Given the description of an element on the screen output the (x, y) to click on. 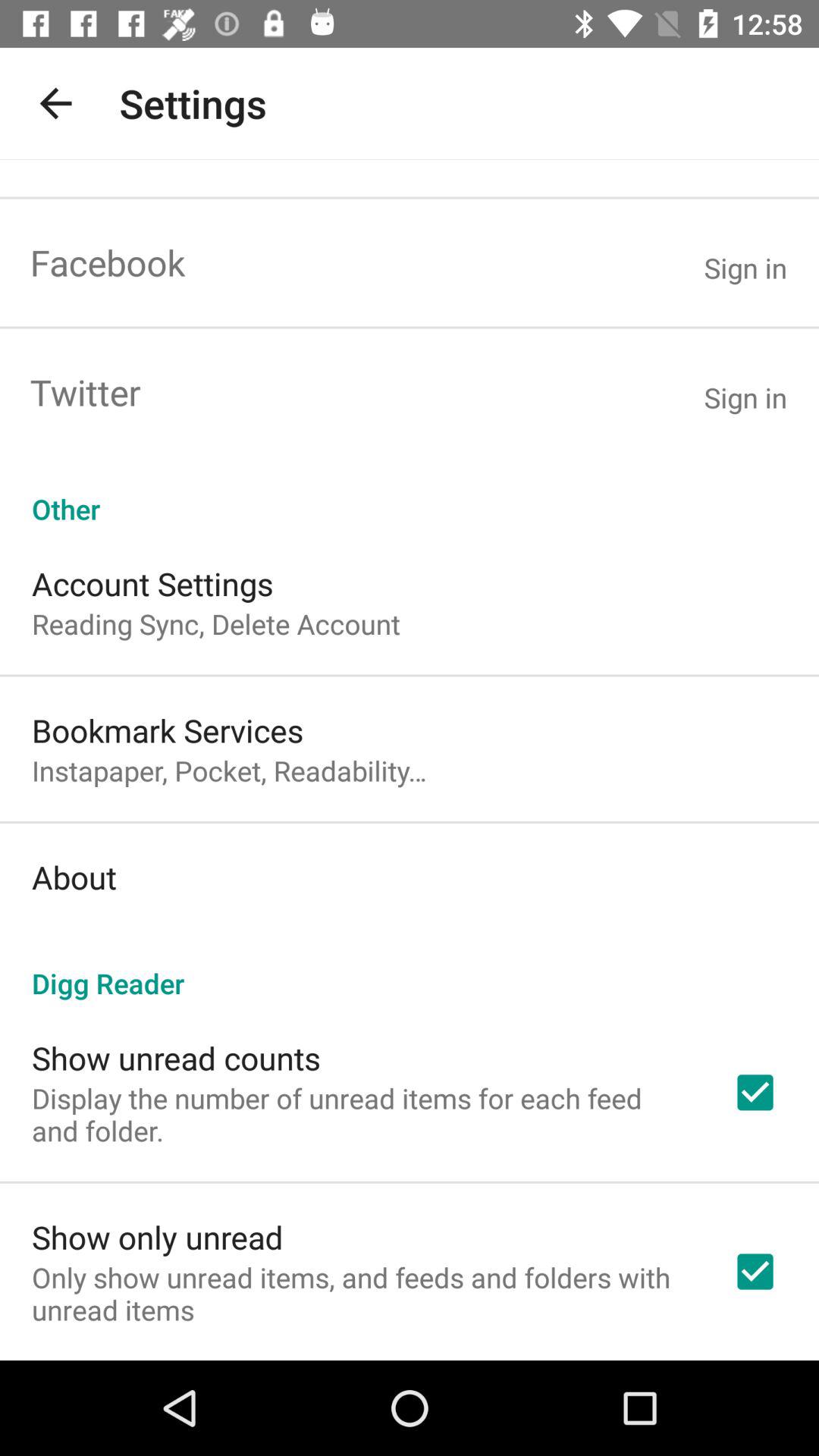
open the facebook item (107, 262)
